Given the description of an element on the screen output the (x, y) to click on. 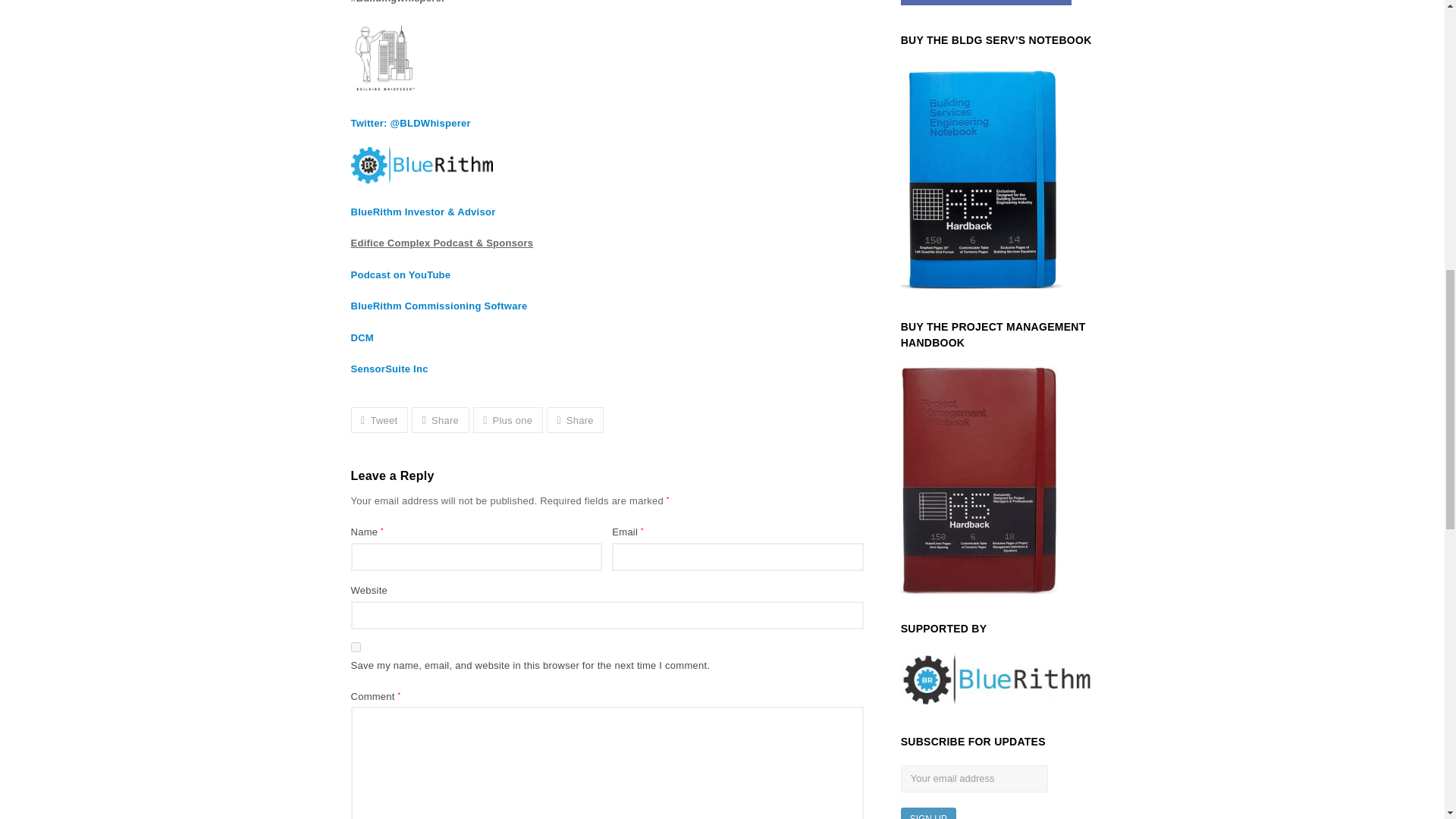
BlueRithm Commissioning Software (438, 306)
yes (354, 646)
SensorSuite Inc (389, 368)
Podcast on YouTube (399, 274)
Tweet (378, 419)
Share (440, 419)
Click below to get the book (986, 2)
DCM (361, 337)
Share (575, 419)
Plus one (508, 419)
Sign up (928, 813)
